Given the description of an element on the screen output the (x, y) to click on. 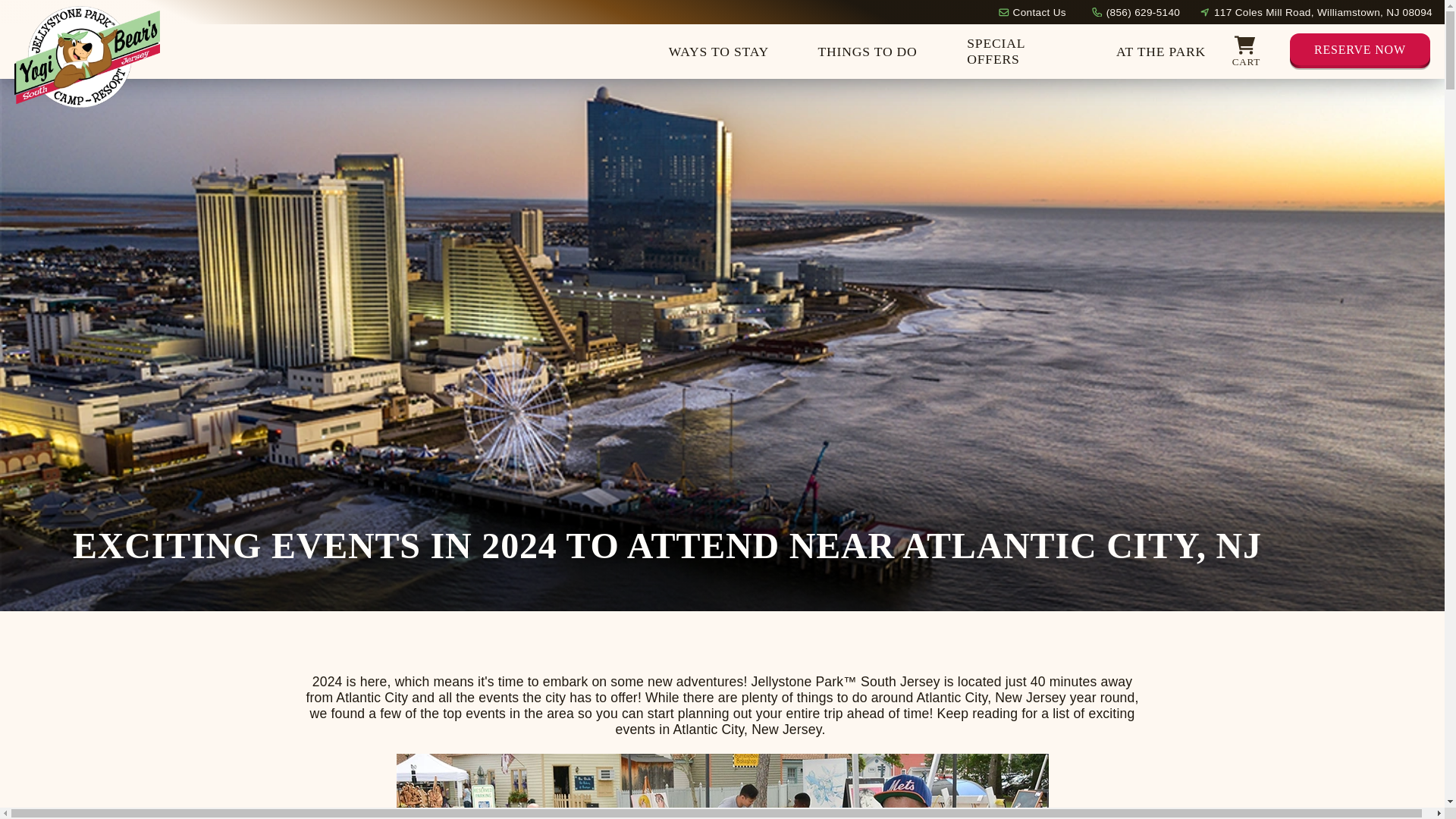
RESERVE NOW (1359, 51)
Contact Us (1039, 11)
117 Coles Mill Road, Williamstown, NJ 08094 (1323, 11)
